Given the description of an element on the screen output the (x, y) to click on. 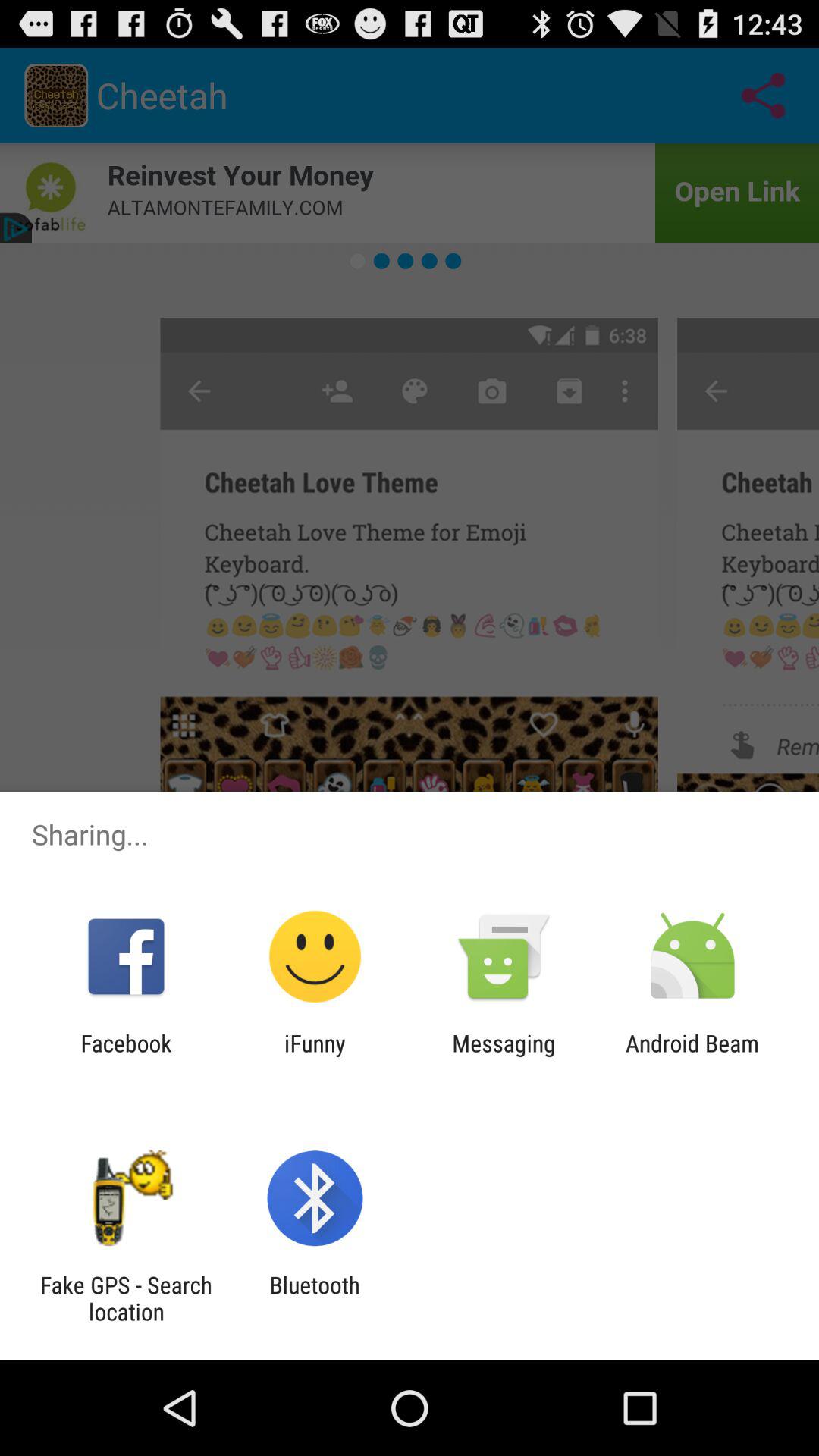
swipe until the fake gps search icon (125, 1298)
